Given the description of an element on the screen output the (x, y) to click on. 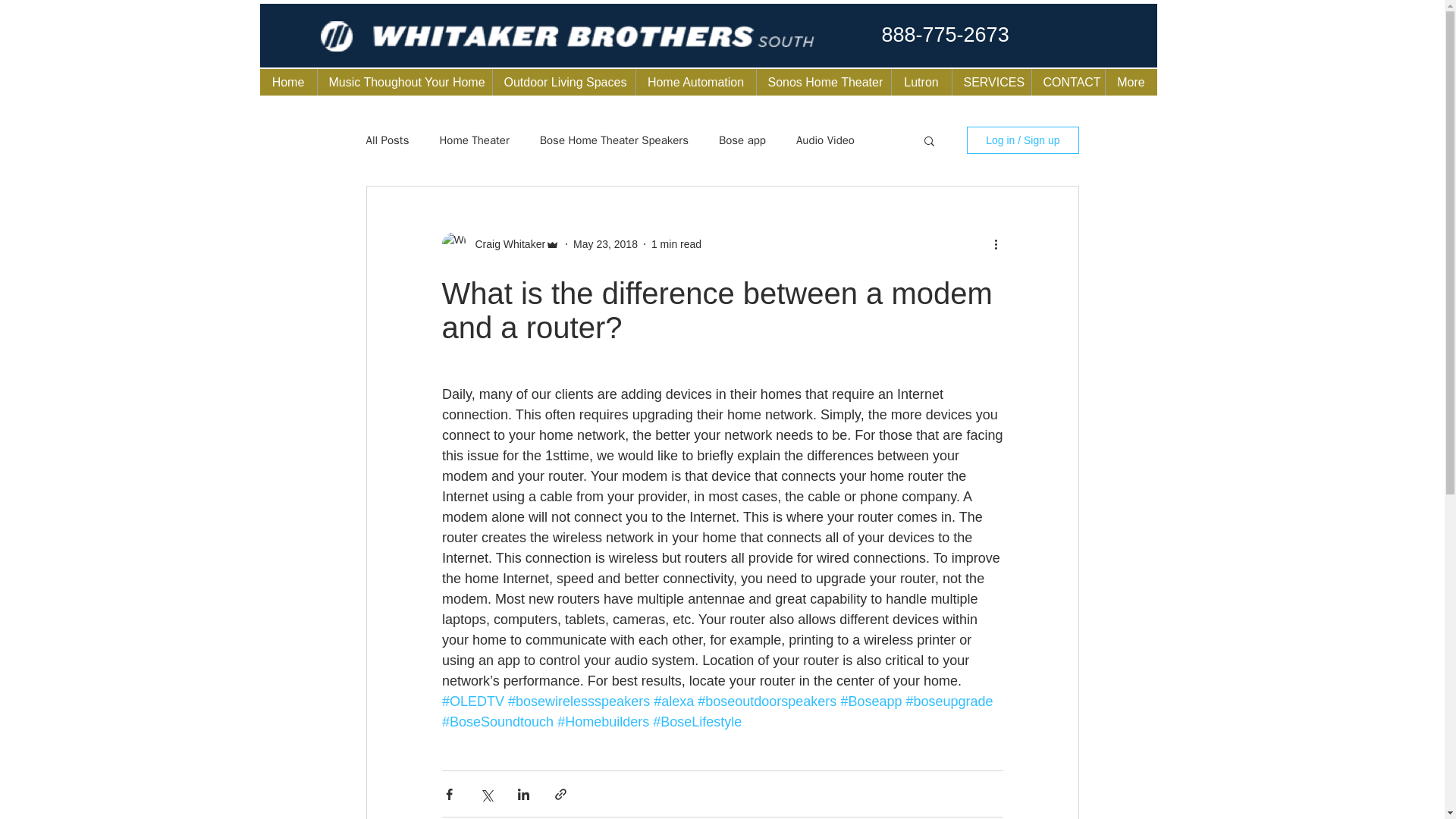
May 23, 2018 (605, 244)
Craig Whitaker (504, 244)
Outdoor Living Spaces (563, 81)
SERVICES (990, 81)
WB South (418, 37)
Home Automation (694, 81)
Sonos Home Theater (822, 81)
Audio Video (825, 140)
Home Theater (473, 140)
Music Thoughout Your Home (404, 81)
